Given the description of an element on the screen output the (x, y) to click on. 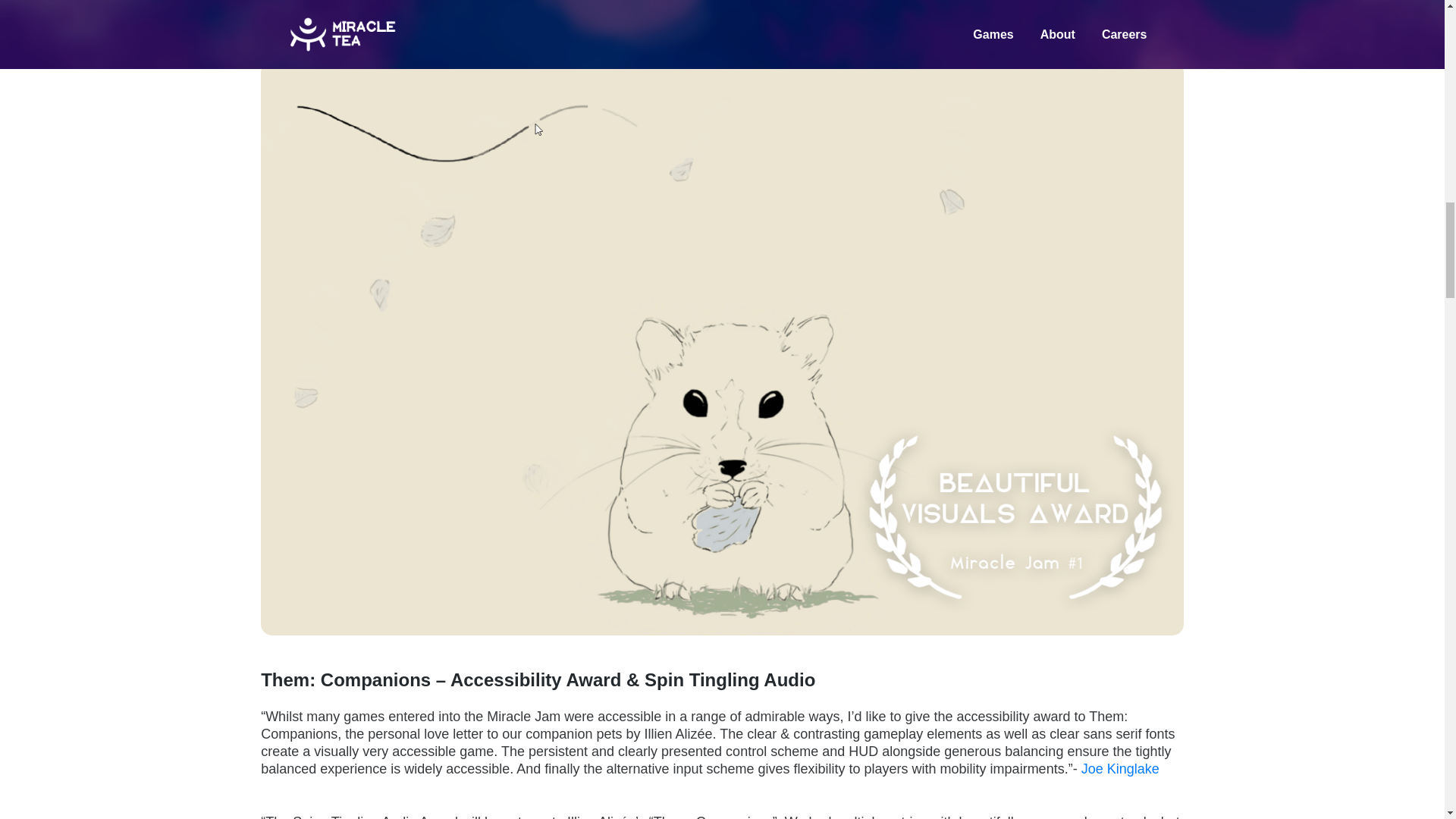
Camille Carpentier (1103, 16)
Joe Kinglake (1119, 768)
